Given the description of an element on the screen output the (x, y) to click on. 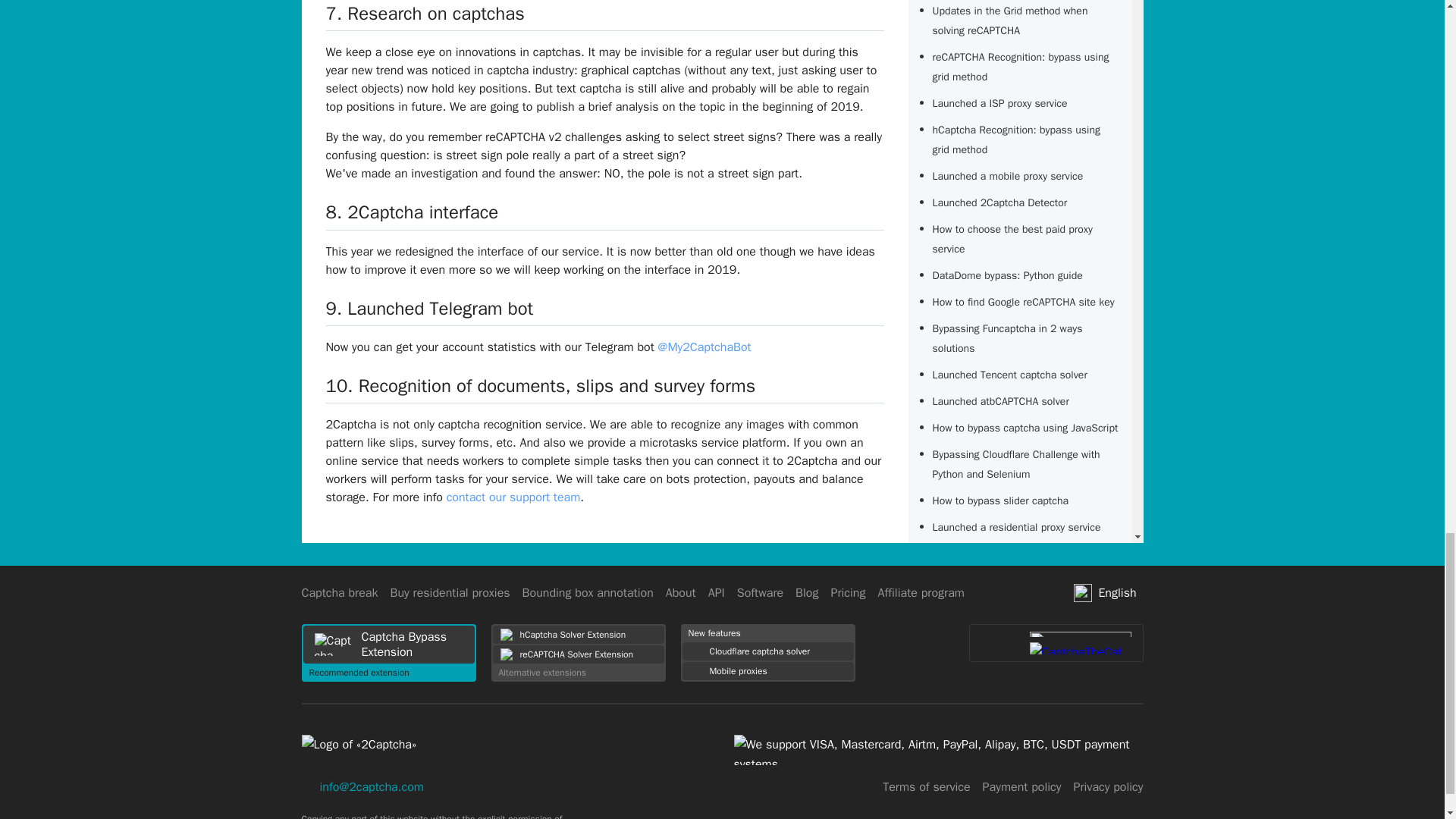
10. Recognition of documents, slips and survey forms (540, 385)
8. 2Captcha interface (412, 211)
7. Research on captchas (425, 13)
us (1083, 592)
9. Launched Telegram bot (430, 308)
contact our support team (513, 497)
